Given the description of an element on the screen output the (x, y) to click on. 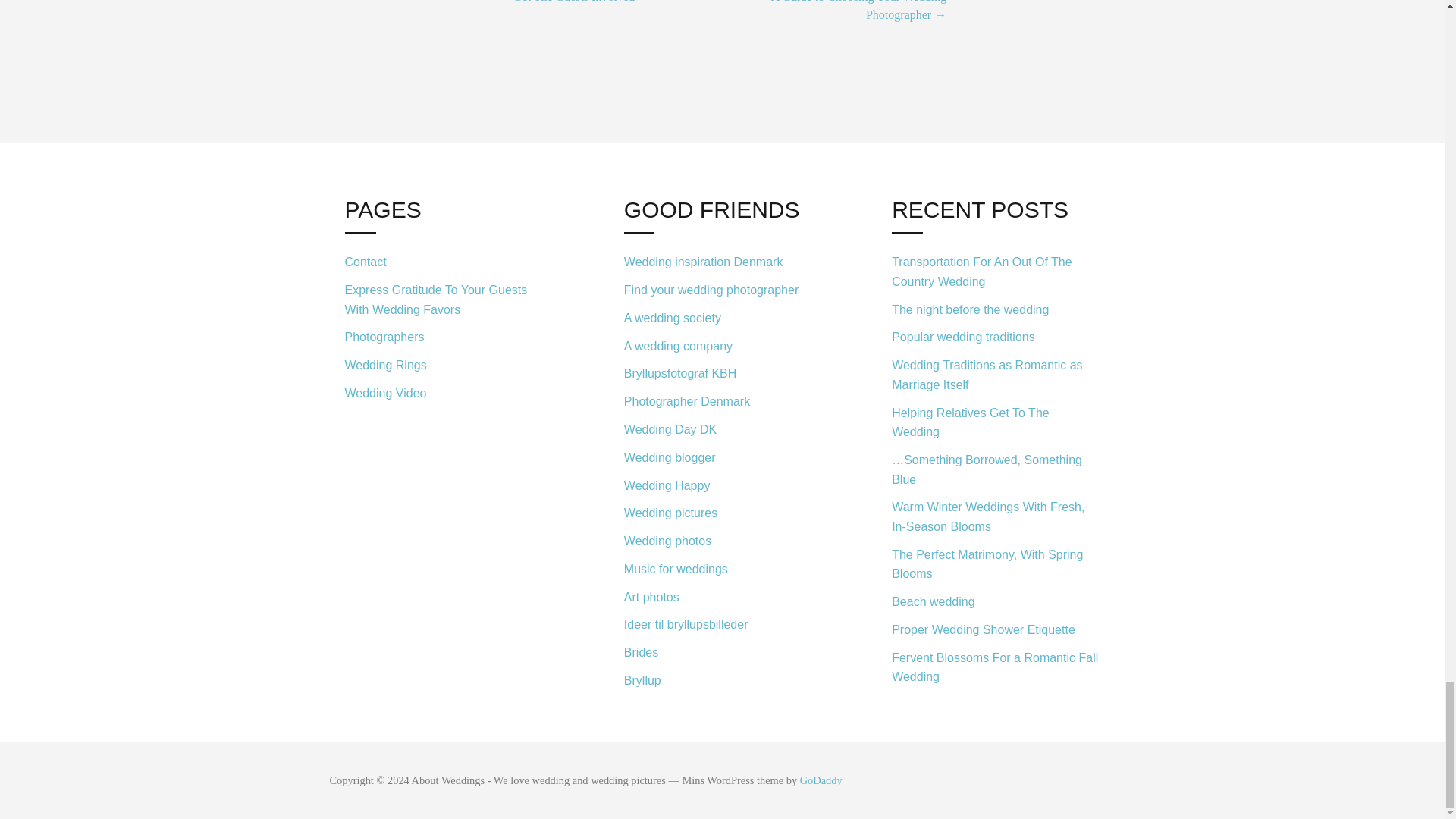
Photographers (447, 337)
Find your wedding photographer (722, 290)
Wedding Day DK (722, 429)
Contact (447, 262)
Express Gratitude To Your Guests With Wedding Favors (447, 299)
Wedding Video (447, 390)
Bryllupsfotograf KBH (722, 374)
A wedding company (722, 346)
Wedding Rings (447, 366)
Wedding blogger (722, 457)
Wedding inspiration Denmark (722, 262)
Photographer Denmark (722, 402)
A wedding society (722, 317)
